Given the description of an element on the screen output the (x, y) to click on. 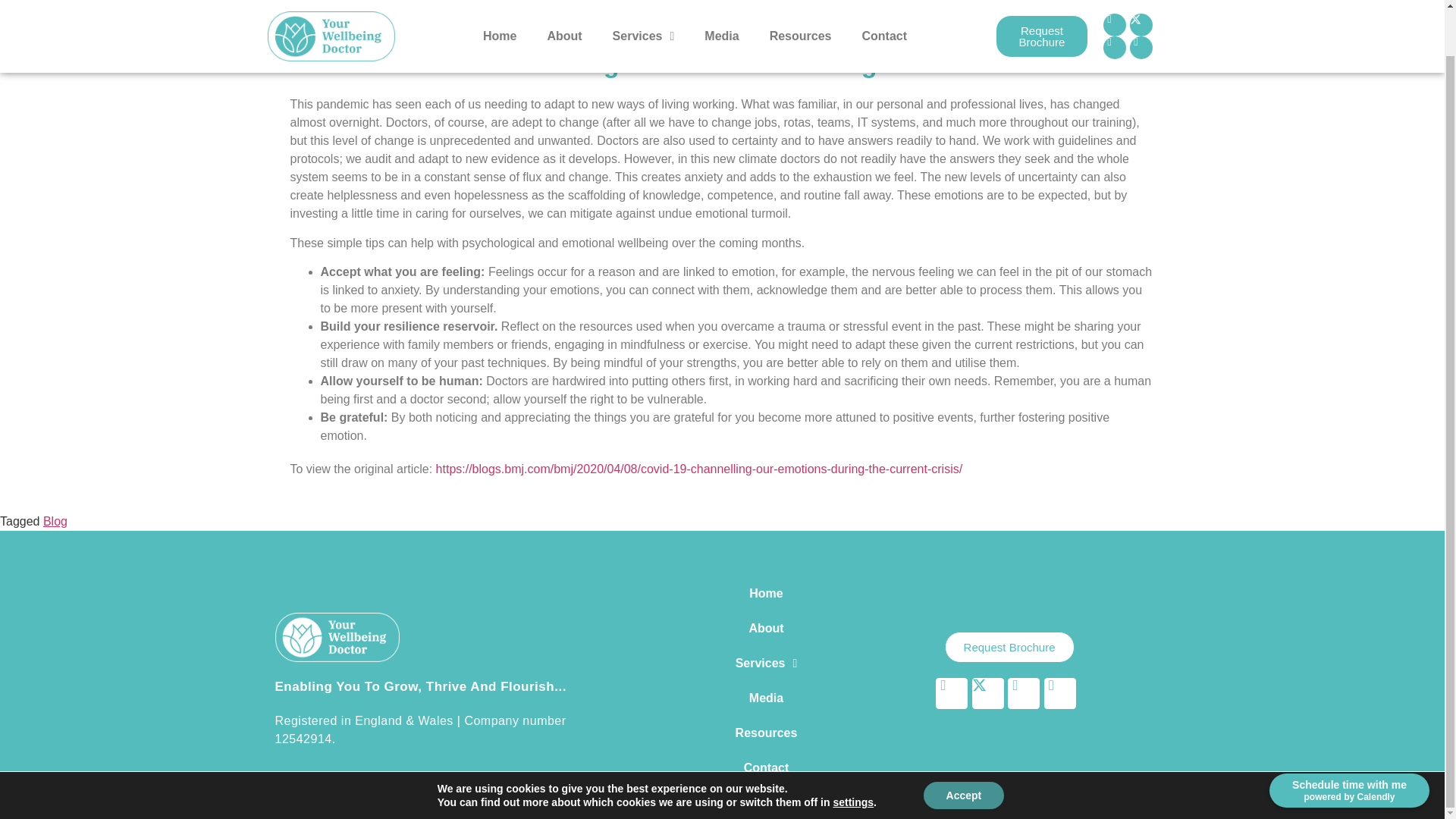
Media (721, 2)
Contact (883, 2)
Request Brochure (1040, 4)
About (563, 2)
Resources (800, 2)
Services (643, 2)
Home (499, 2)
